Given the description of an element on the screen output the (x, y) to click on. 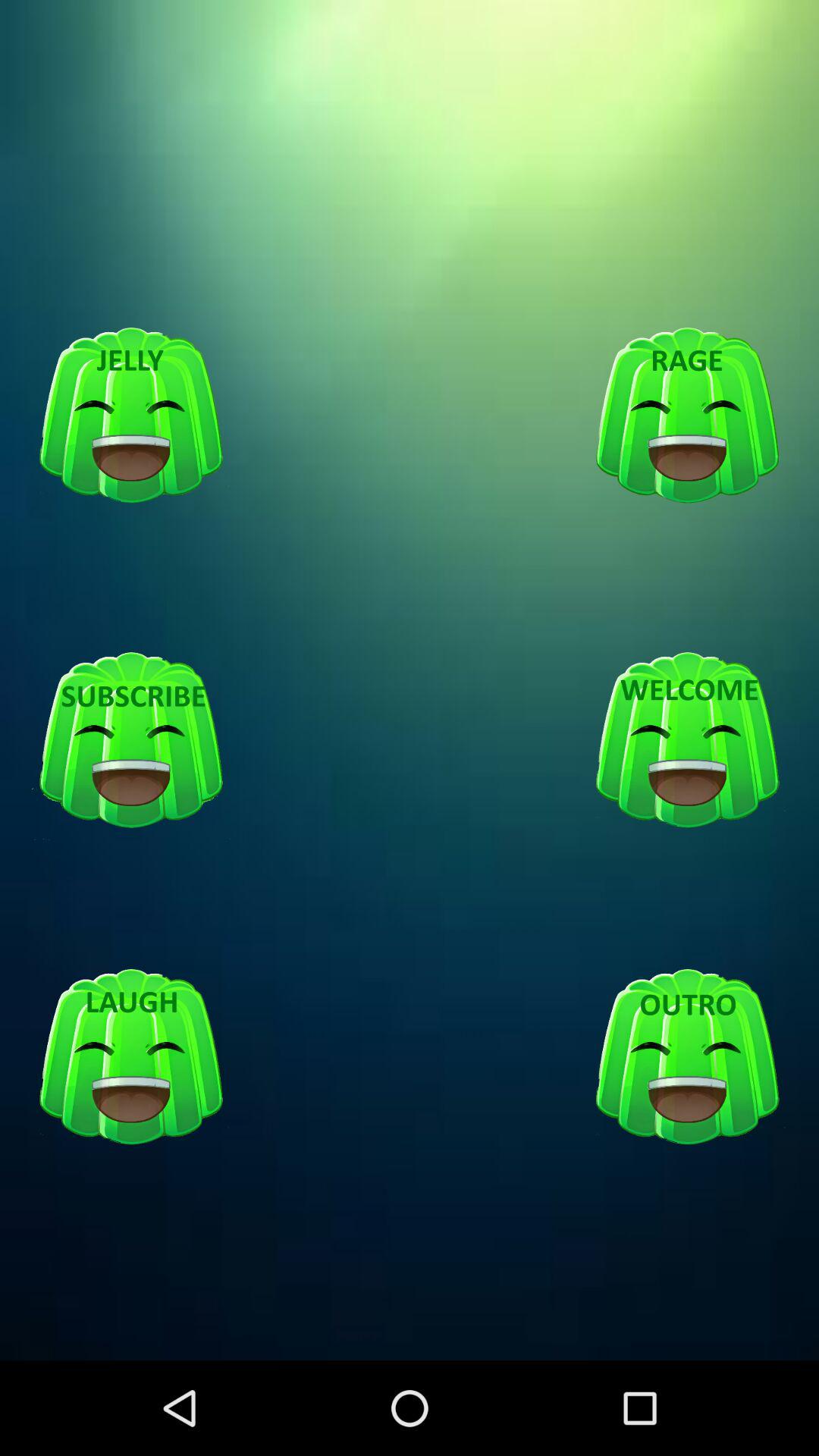
select outro (687, 1057)
